Given the description of an element on the screen output the (x, y) to click on. 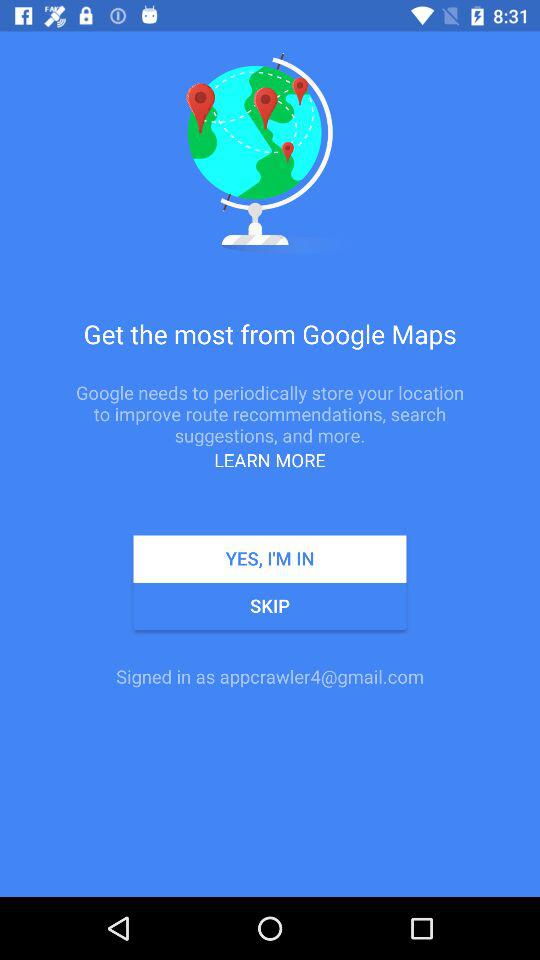
turn off icon above yes i m item (269, 459)
